Given the description of an element on the screen output the (x, y) to click on. 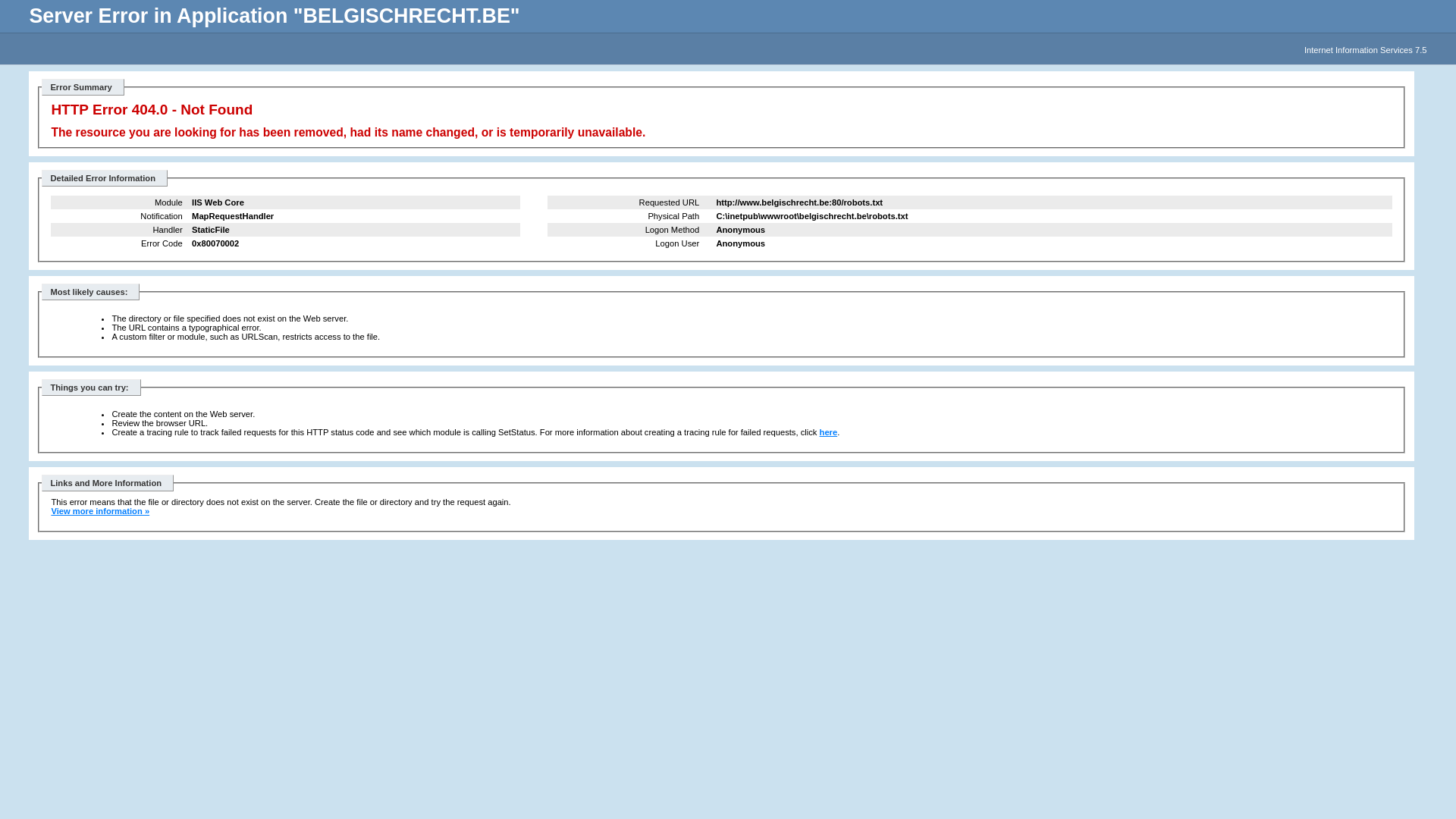
here Element type: text (828, 431)
